Given the description of an element on the screen output the (x, y) to click on. 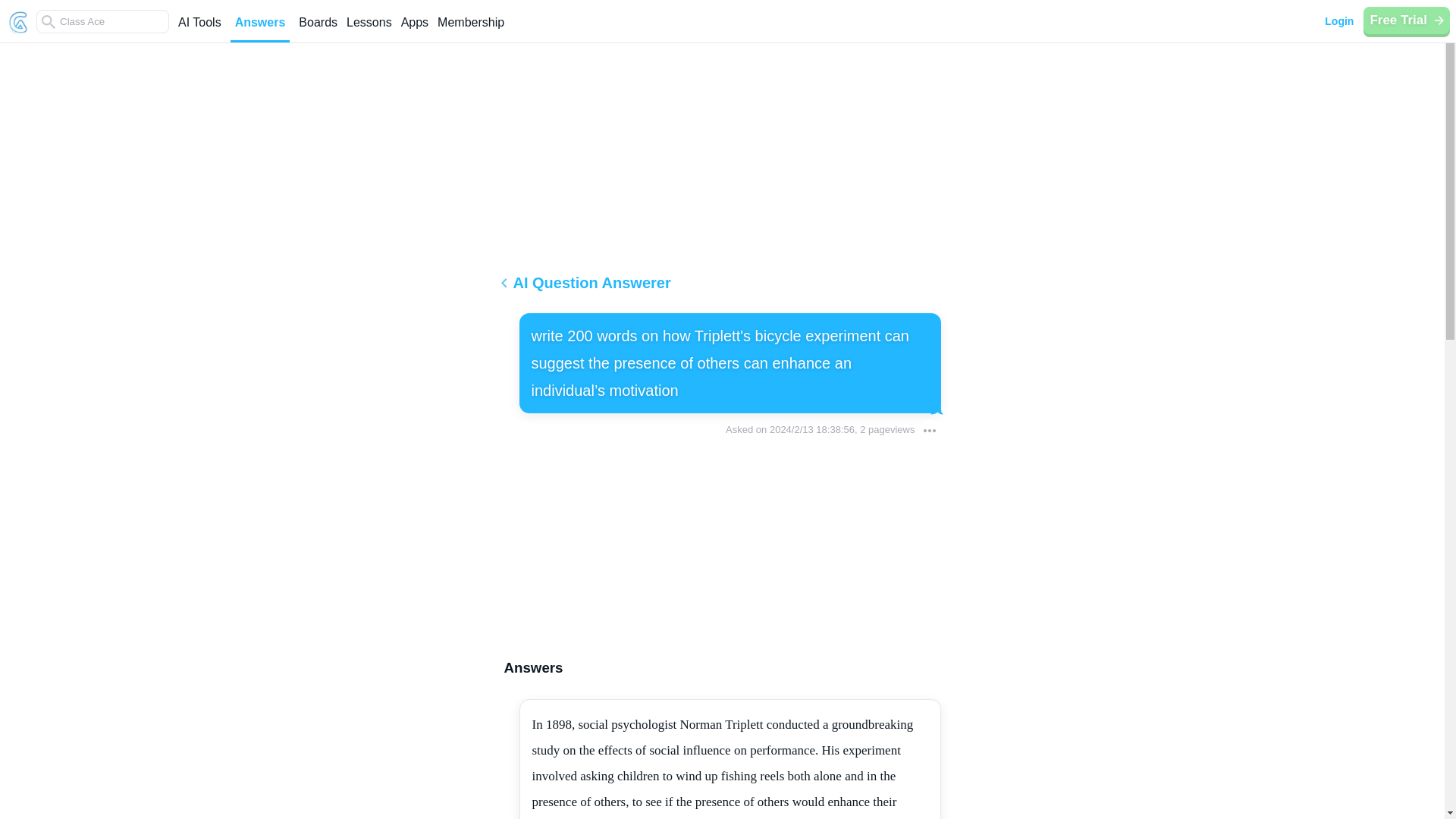
Login (1338, 21)
Membership (470, 28)
Free Trial (1406, 20)
Boards (317, 28)
Apps (414, 28)
AI Question Answerer (722, 288)
Answers (259, 28)
AI Tools (199, 28)
Lessons (368, 28)
